Given the description of an element on the screen output the (x, y) to click on. 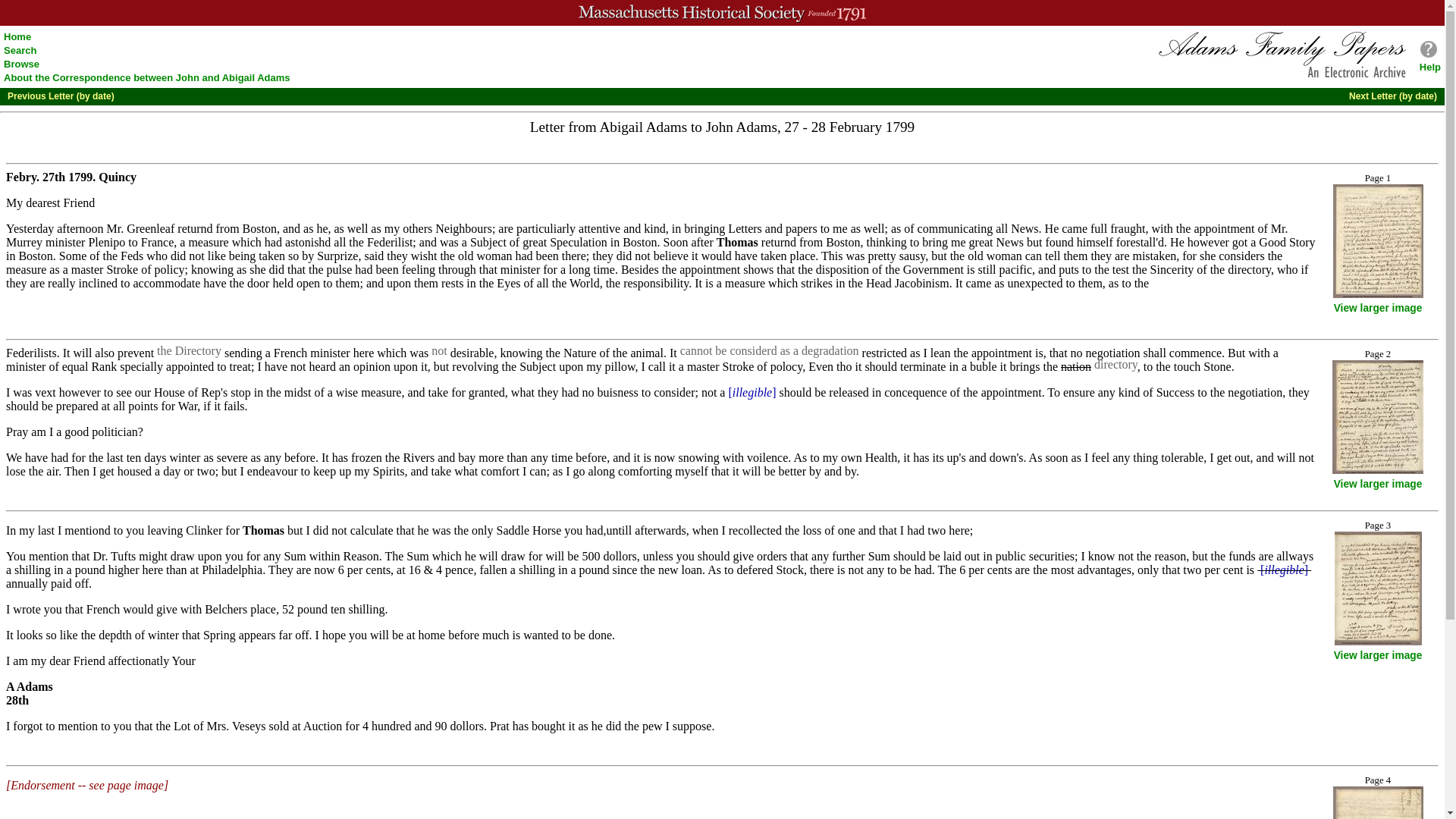
Plenipotentiary (106, 241)
View larger image (1377, 483)
Federalist (389, 241)
Surprise (337, 255)
Browse (21, 63)
forestalled (1139, 241)
returned (778, 241)
1799-02-27 (849, 126)
considered (752, 350)
View larger image (1377, 655)
Neighbors (463, 228)
wished (424, 255)
particularly (545, 228)
pillar (619, 366)
astonished (307, 241)
